Given the description of an element on the screen output the (x, y) to click on. 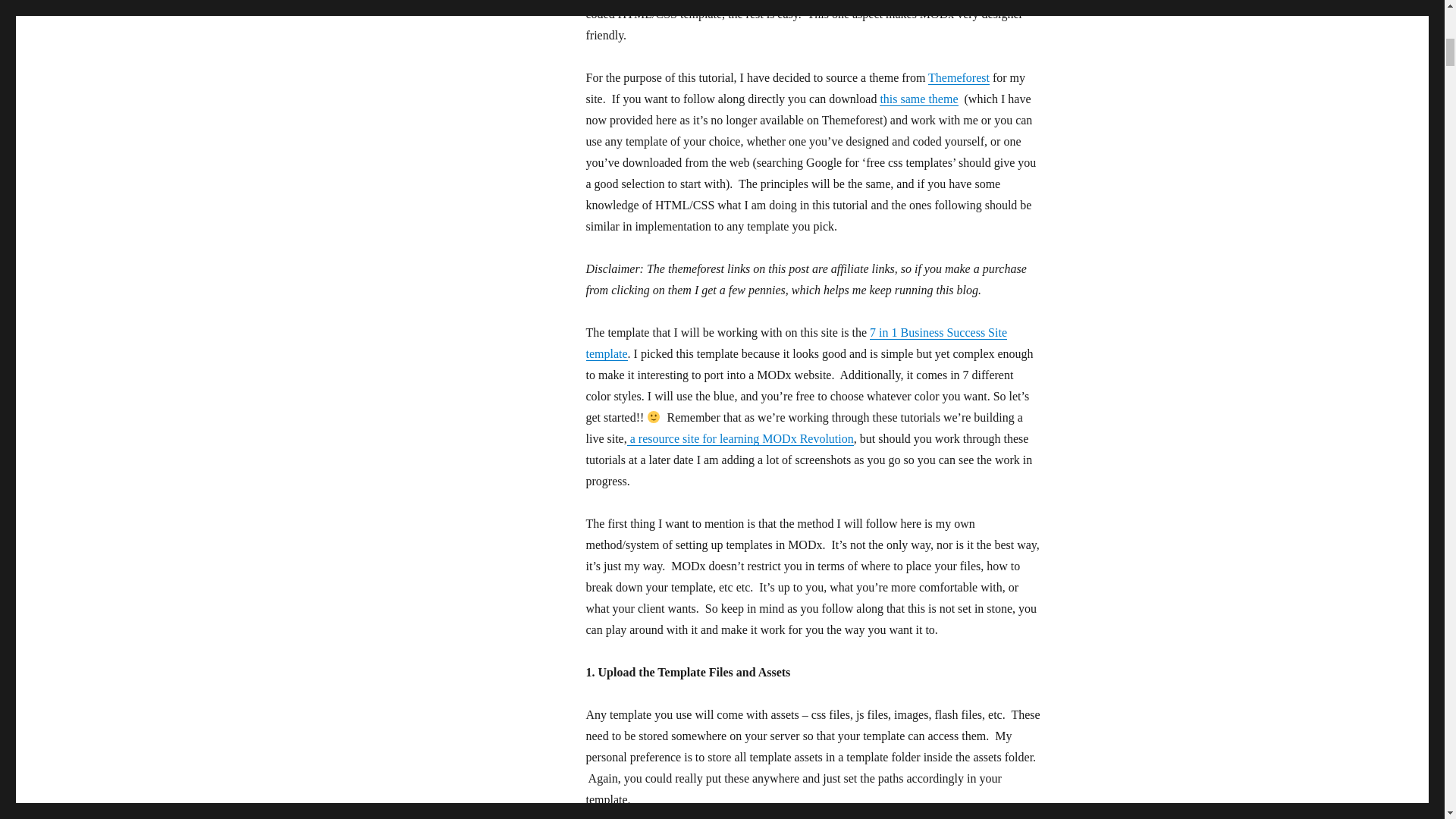
this same theme (918, 98)
Themeforest (959, 77)
a resource site for learning MODx Revolution (740, 438)
Themeforest Website Templates (959, 77)
Learn MODx Revolution (740, 438)
7 in 1 Business Success Site template (796, 342)
7 in 1 Business Success Site (796, 342)
